Given the description of an element on the screen output the (x, y) to click on. 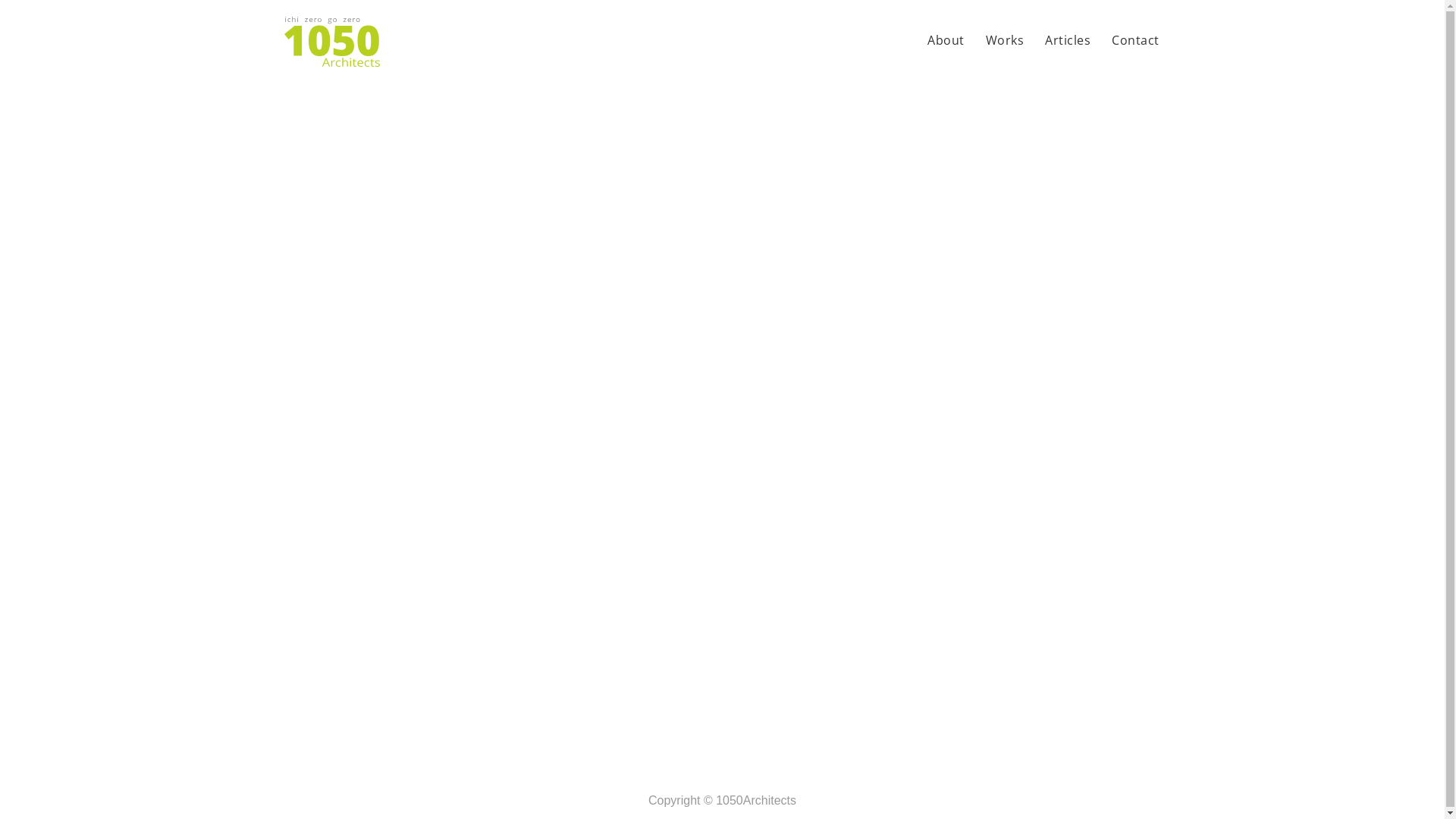
Works Element type: text (1004, 41)
Articles Element type: text (1067, 41)
About Element type: text (945, 41)
Contact Element type: text (1135, 41)
